Given the description of an element on the screen output the (x, y) to click on. 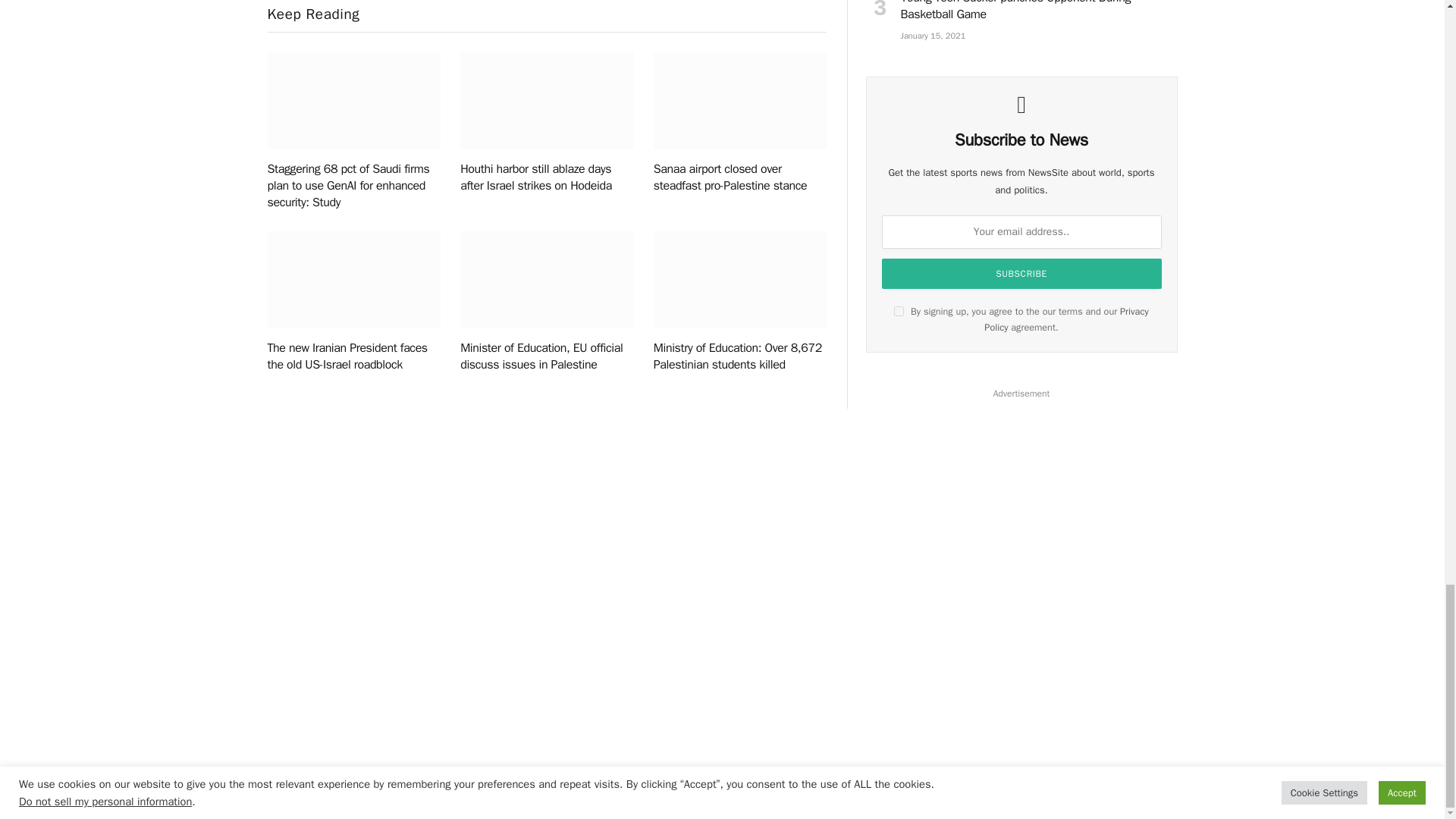
on (898, 311)
Subscribe (1021, 273)
